Given the description of an element on the screen output the (x, y) to click on. 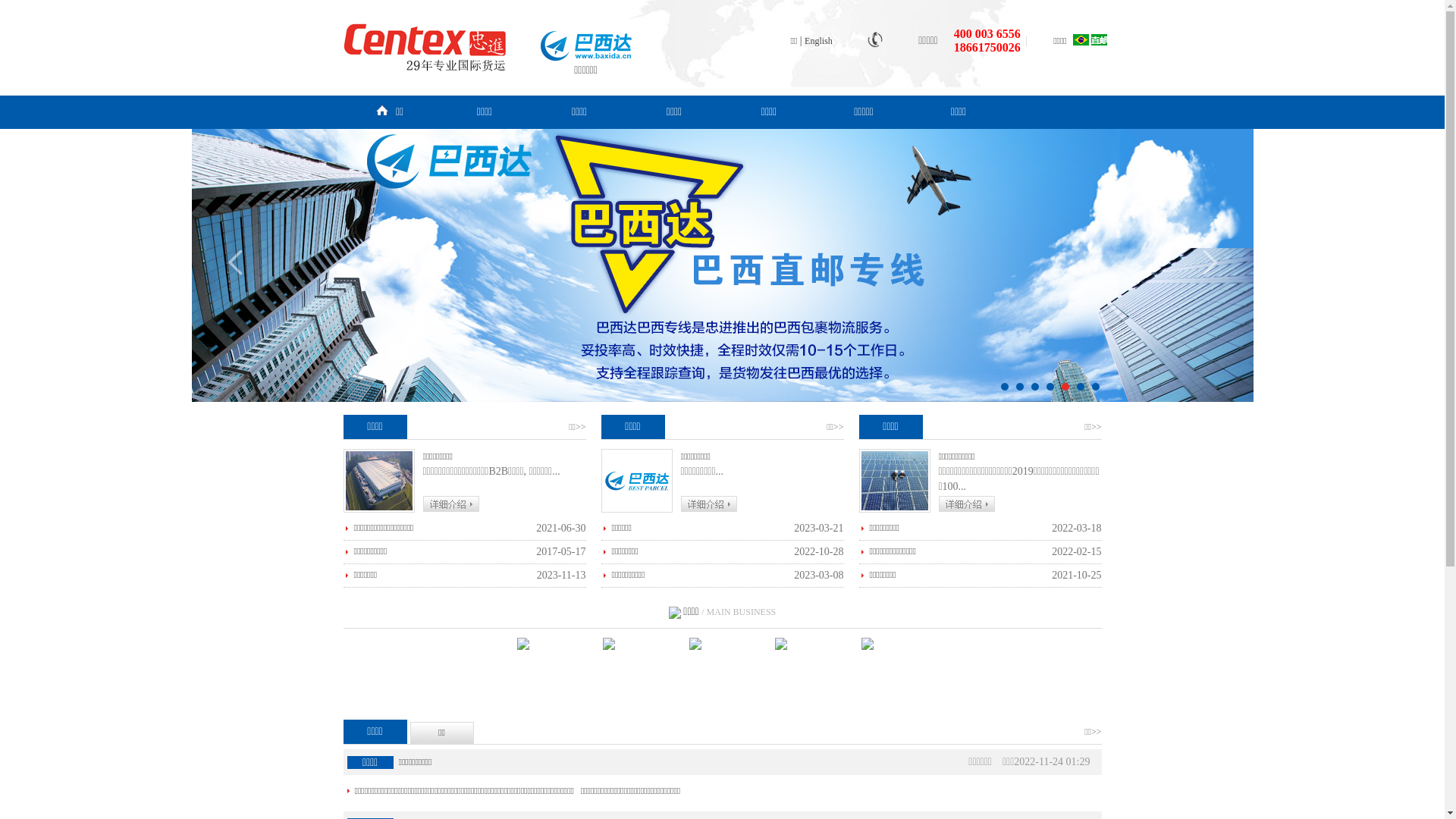
English Element type: text (818, 40)
